Given the description of an element on the screen output the (x, y) to click on. 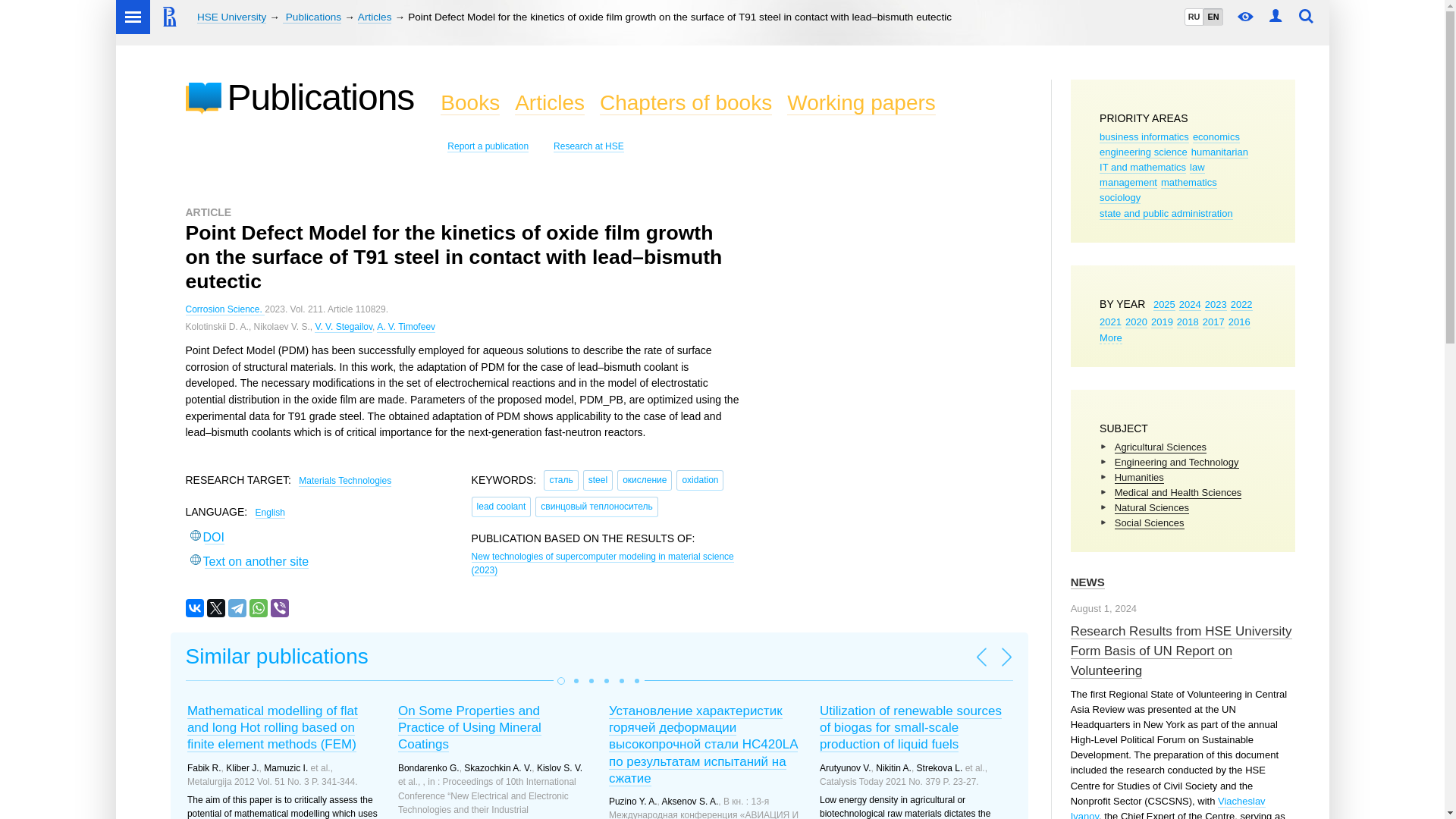
RU (1194, 17)
2023 (1216, 304)
EN (1212, 17)
state and public administration (1166, 214)
2024 (1190, 304)
engineering science (1143, 152)
2020 (1136, 322)
HSE University (231, 17)
2022 (1241, 304)
sociology (1119, 197)
Articles (374, 17)
IT and mathematics (1142, 167)
economics (1216, 137)
mathematics (1188, 182)
2016 (1239, 322)
